Given the description of an element on the screen output the (x, y) to click on. 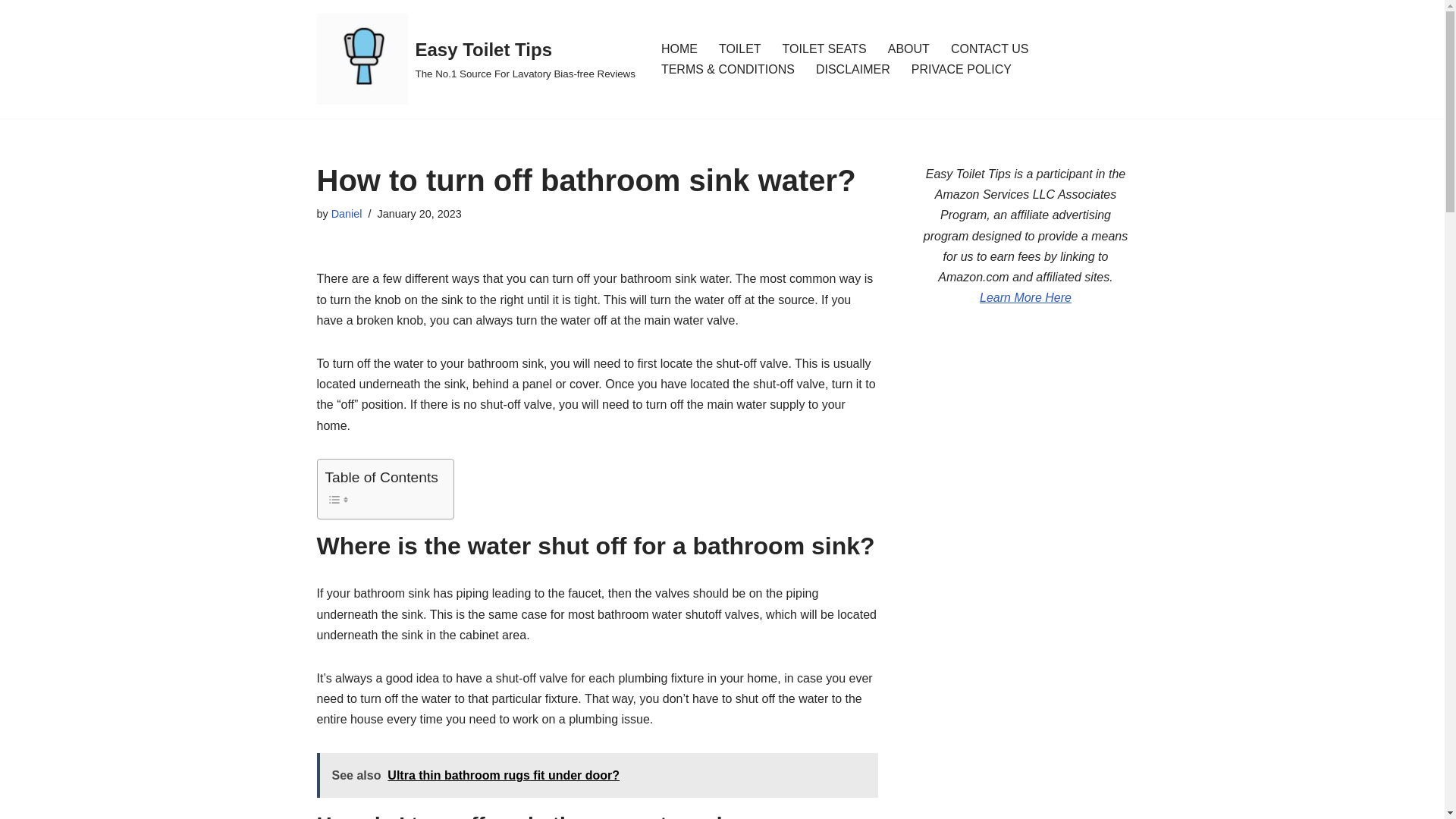
HOME (679, 48)
Daniel (346, 214)
ABOUT (909, 48)
PRIVACE POLICY (961, 68)
Learn More Here (1025, 297)
TOILET SEATS (824, 48)
Skip to content (11, 31)
CONTACT US (989, 48)
DISCLAIMER (852, 68)
